Given the description of an element on the screen output the (x, y) to click on. 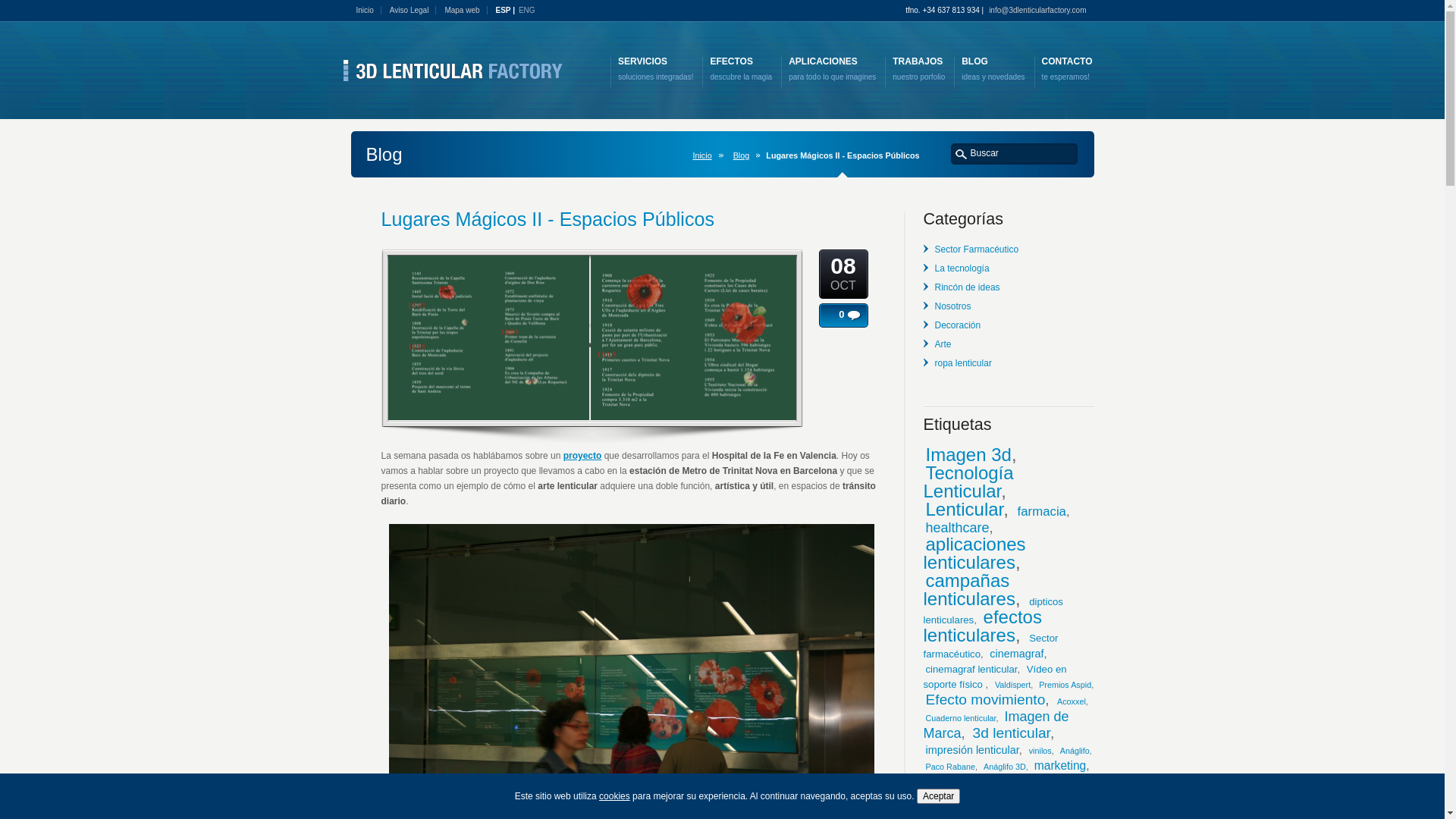
Aviso Legal Element type: text (412, 10)
0 Element type: text (830, 314)
SERVICIOS
soluciones integradas! Element type: text (655, 68)
cinemagraf lenticular Element type: text (970, 668)
Imagen 3d Element type: text (967, 454)
Efecto movimiento Element type: text (984, 699)
Lenticular Element type: text (964, 508)
APLICACIONES
para todo lo que imagines Element type: text (831, 68)
TRABAJOS
nuestro porfolio Element type: text (918, 68)
Imagen de Marca Element type: text (996, 724)
Blog Element type: text (744, 155)
Mapa web Element type: text (465, 10)
Premios Aspid Element type: text (1064, 684)
farmacia Element type: text (1041, 511)
marketing online Element type: text (1026, 798)
Aceptar Element type: text (938, 795)
cookies Element type: text (614, 795)
efectos lenticulares Element type: text (982, 625)
vinilos Element type: text (1040, 750)
Nosotros Element type: text (952, 306)
marketing offline Element type: text (964, 781)
search Element type: text (960, 153)
marketing Element type: text (1059, 765)
Inicio Element type: text (704, 155)
3d lenticular Element type: text (1011, 732)
aplicaciones lenticulares Element type: text (974, 552)
Arte Element type: text (942, 343)
Valdispert Element type: text (1012, 684)
ENG Element type: text (526, 10)
ropa lenticular Element type: text (962, 362)
Inicio Element type: text (368, 10)
cinemagraf Element type: text (1016, 653)
Cuaderno lenticular Element type: text (960, 717)
dipticos lenticulares Element type: text (993, 610)
proyecto Element type: text (582, 455)
BLOG
ideas y novedades Element type: text (992, 68)
Paco Rabane Element type: text (949, 766)
publicidad offline Element type: text (993, 789)
info@3dlenticularfactory.com Element type: text (1040, 10)
healthcare Element type: text (956, 527)
mupins Element type: text (975, 798)
Acoxxel Element type: text (1071, 701)
CONTACTO
te esperamos! Element type: text (1066, 68)
EFECTOS
descubre la magia Element type: text (740, 68)
